Given the description of an element on the screen output the (x, y) to click on. 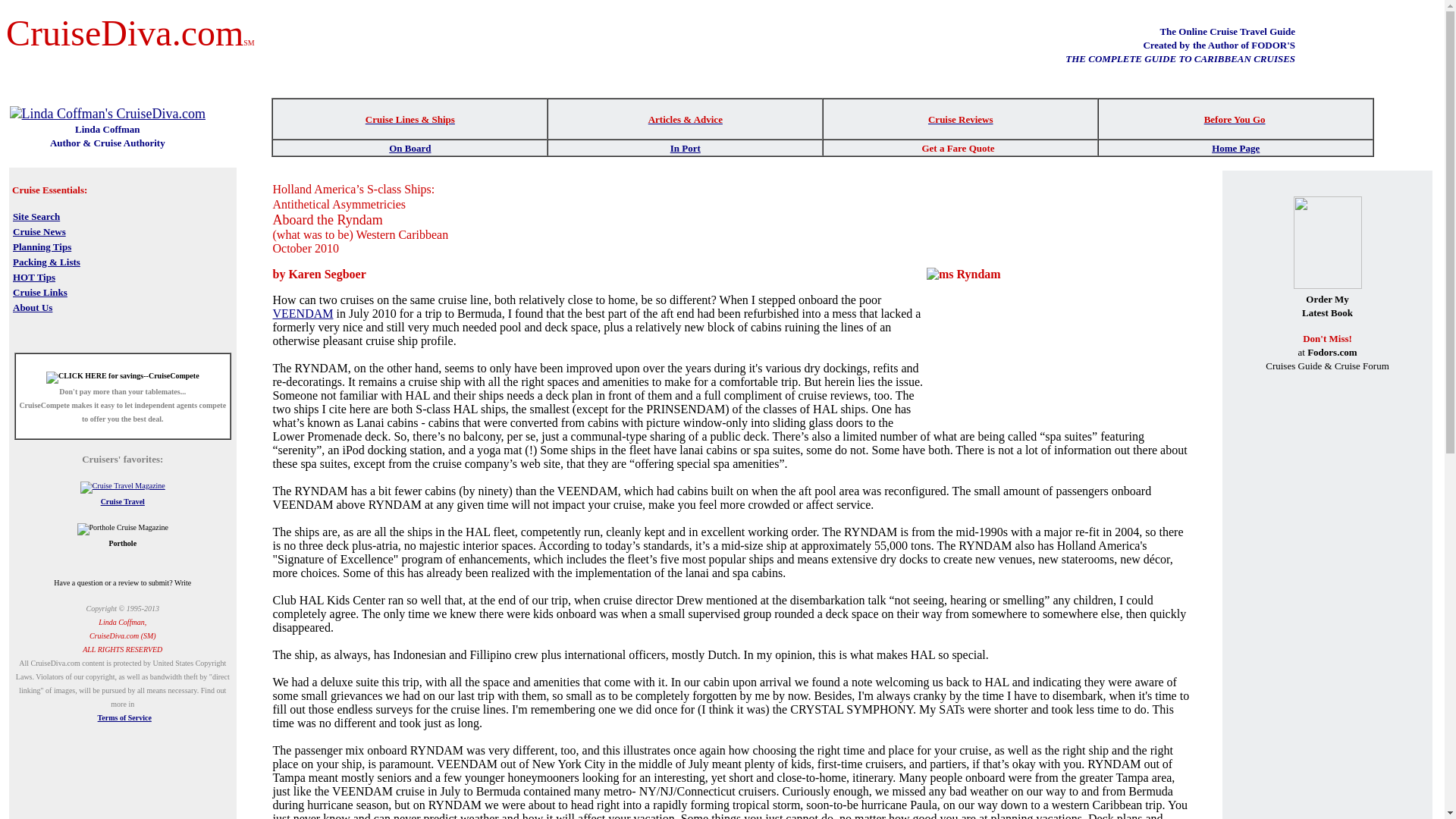
In Port (684, 146)
Site Search (36, 215)
Cruise News (39, 230)
About Us (32, 306)
Cruise Reviews (960, 118)
Home Page (1235, 147)
Planning Tips (42, 245)
Before You Go (1234, 118)
Cruise Links (39, 291)
Cruise Travel (122, 501)
On Board (409, 146)
Terms of Service (124, 717)
HOT Tips (34, 276)
VEENDAM (303, 313)
